Given the description of an element on the screen output the (x, y) to click on. 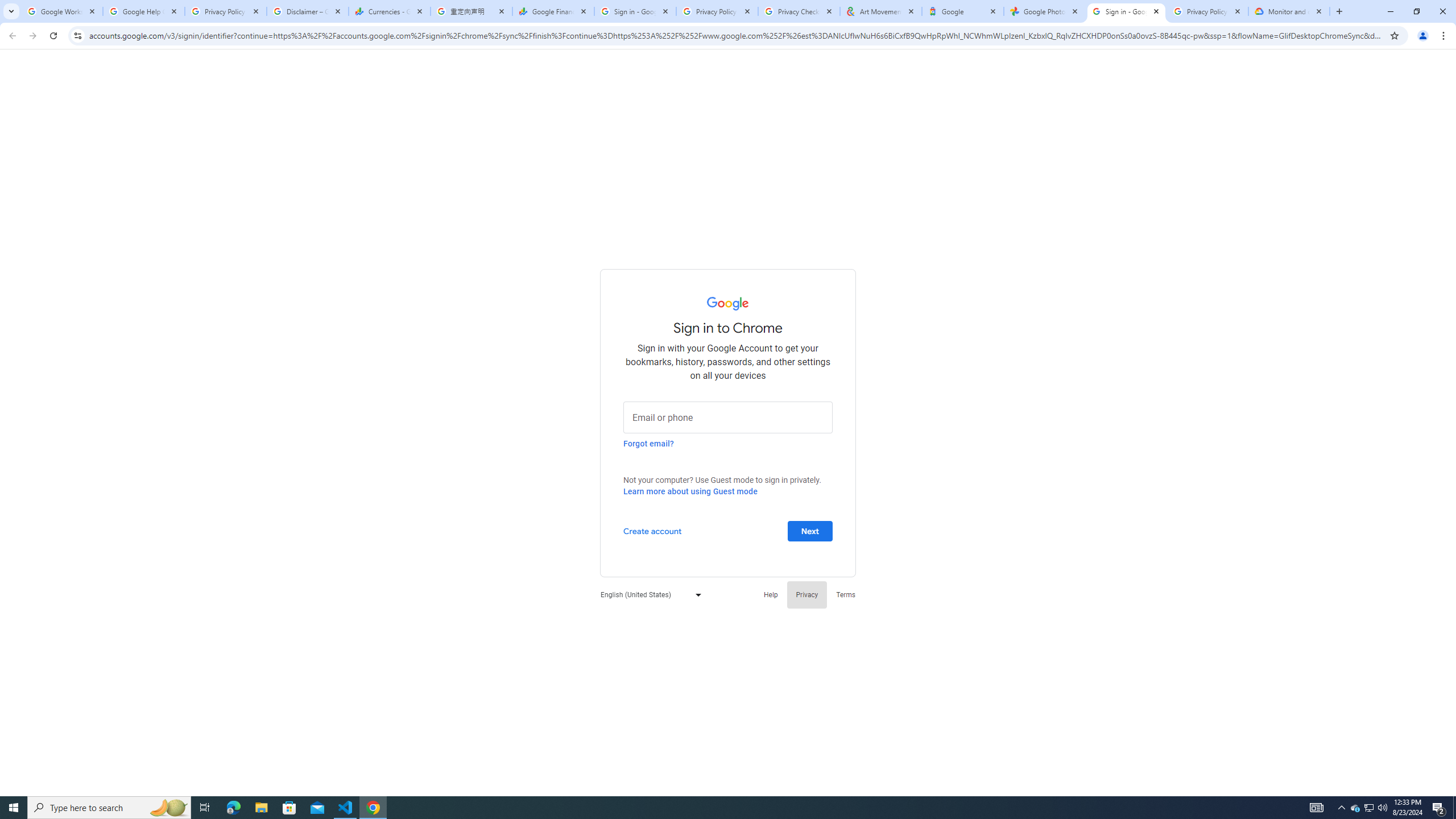
Privacy Checkup (798, 11)
Learn more about using Guest mode (689, 491)
Email or phone (727, 416)
Forgot email? (648, 443)
